Given the description of an element on the screen output the (x, y) to click on. 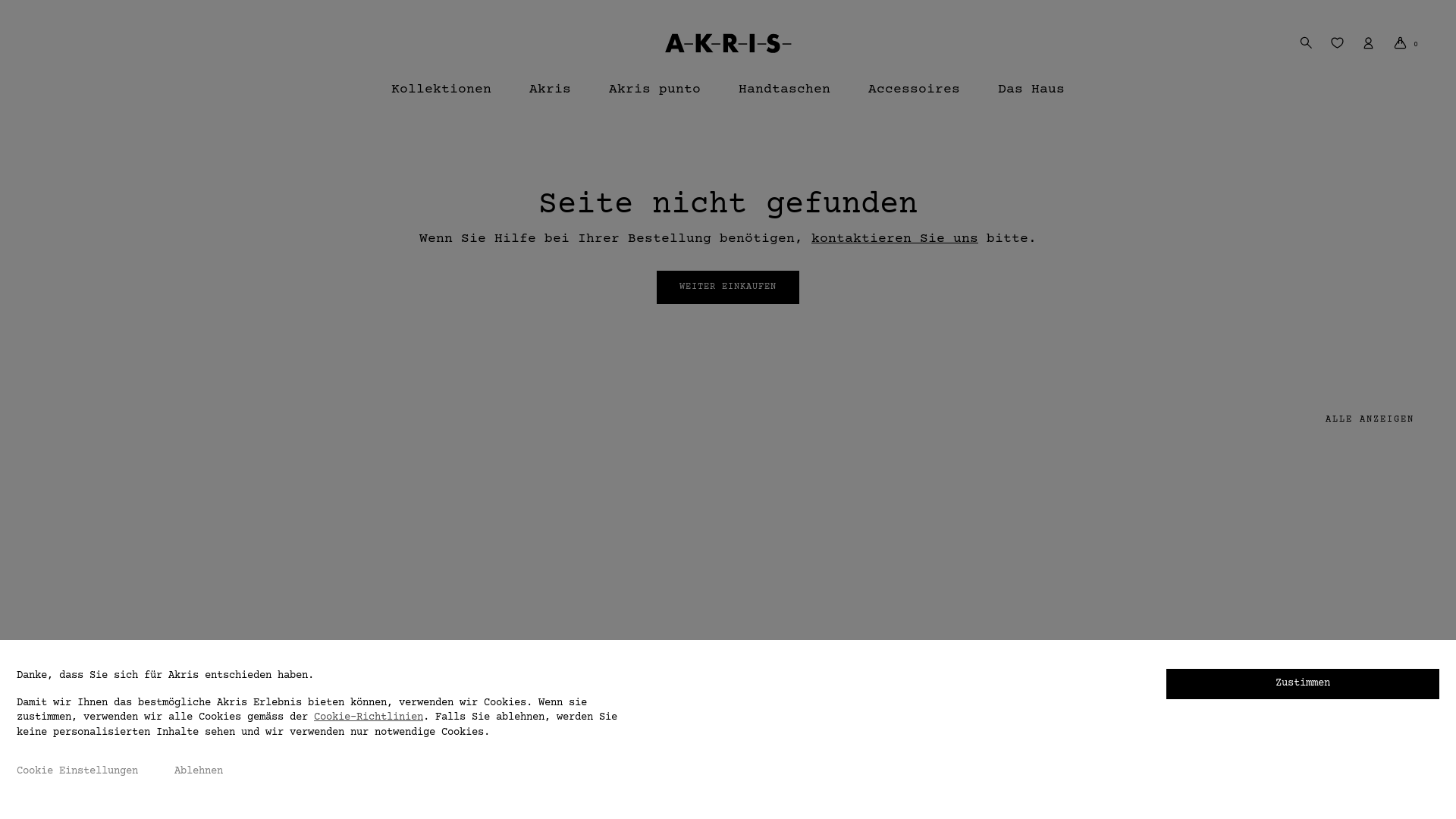
Newsletter abonnieren Element type: text (254, 637)
AGB Element type: text (365, 553)
ALLE ANZEIGEN Element type: text (1369, 420)
YouTube Element type: text (659, 637)
Jetzt abonnieren Element type: text (1160, 614)
Zustimmen Element type: text (1302, 683)
Akris Logo Back Homepage Element type: hover (727, 42)
Cookies Element type: text (377, 581)
Liste der Boutiquen Element type: text (248, 581)
WEITER EINKAUFEN Element type: text (727, 287)
LinkedIn Element type: text (662, 609)
Cookie-Richtlinien Element type: text (368, 717)
0 Element type: text (1405, 42)
Accessoires Element type: text (914, 95)
Akris AG Element type: text (533, 553)
Das Haus Element type: text (1030, 95)
Pflege Element type: text (55, 637)
Size Guide Element type: text (67, 721)
Ablehnen Element type: text (198, 771)
Kontakt Element type: text (58, 581)
Selber Masse nehmen Element type: text (95, 693)
Akris punto Element type: text (654, 95)
Akris Element type: text (550, 95)
Wunschliste ansehen Element type: hover (1337, 42)
Facebook Element type: text (662, 553)
Store Locator Element type: text (230, 609)
Handtaschen Element type: text (784, 95)
Boutique Services Element type: text (242, 553)
Instagram Element type: text (665, 581)
Retouren Element type: text (61, 665)
Akris Ausstellung Element type: text (242, 665)
Kollektionen Element type: text (441, 95)
Log in Element type: text (1184, 218)
Karriere Element type: text (533, 581)
Datenschutz Element type: text (389, 609)
Customer Account Element type: hover (1367, 42)
Partner Element type: text (530, 609)
Versand Element type: text (58, 609)
kontaktieren Sie uns Element type: text (894, 238)
Cookie Einstellungen Element type: text (77, 771)
